Given the description of an element on the screen output the (x, y) to click on. 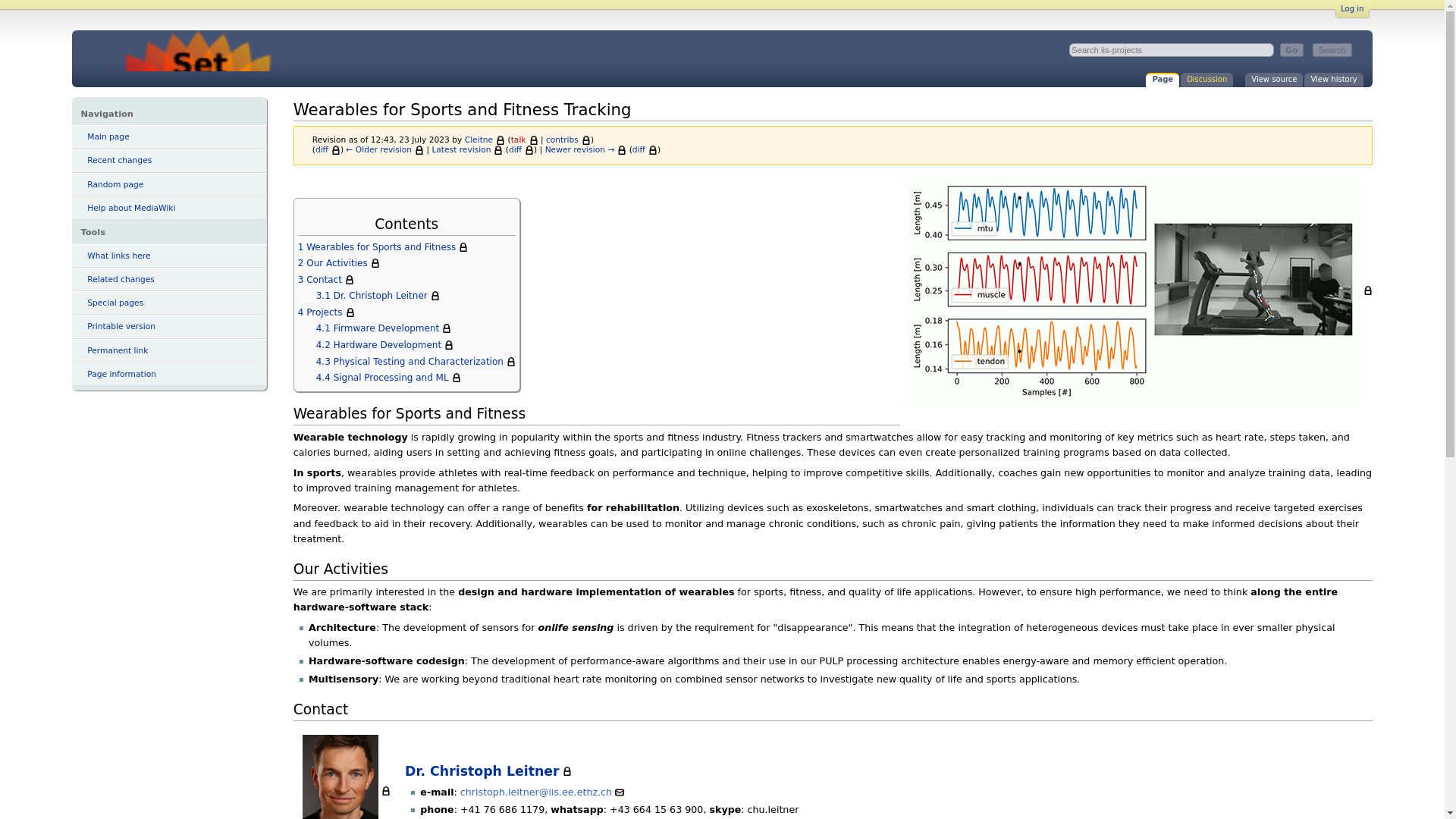
Help about MediaWiki (168, 208)
Permanent link to this revision of this page (168, 350)
3.1 Dr. Christoph Leitner (377, 295)
Main page (168, 136)
More information about this page (168, 373)
Special pages (168, 302)
4.3 Physical Testing and Characterization (415, 361)
Random page (168, 184)
Page information (168, 373)
diff (644, 149)
